Given the description of an element on the screen output the (x, y) to click on. 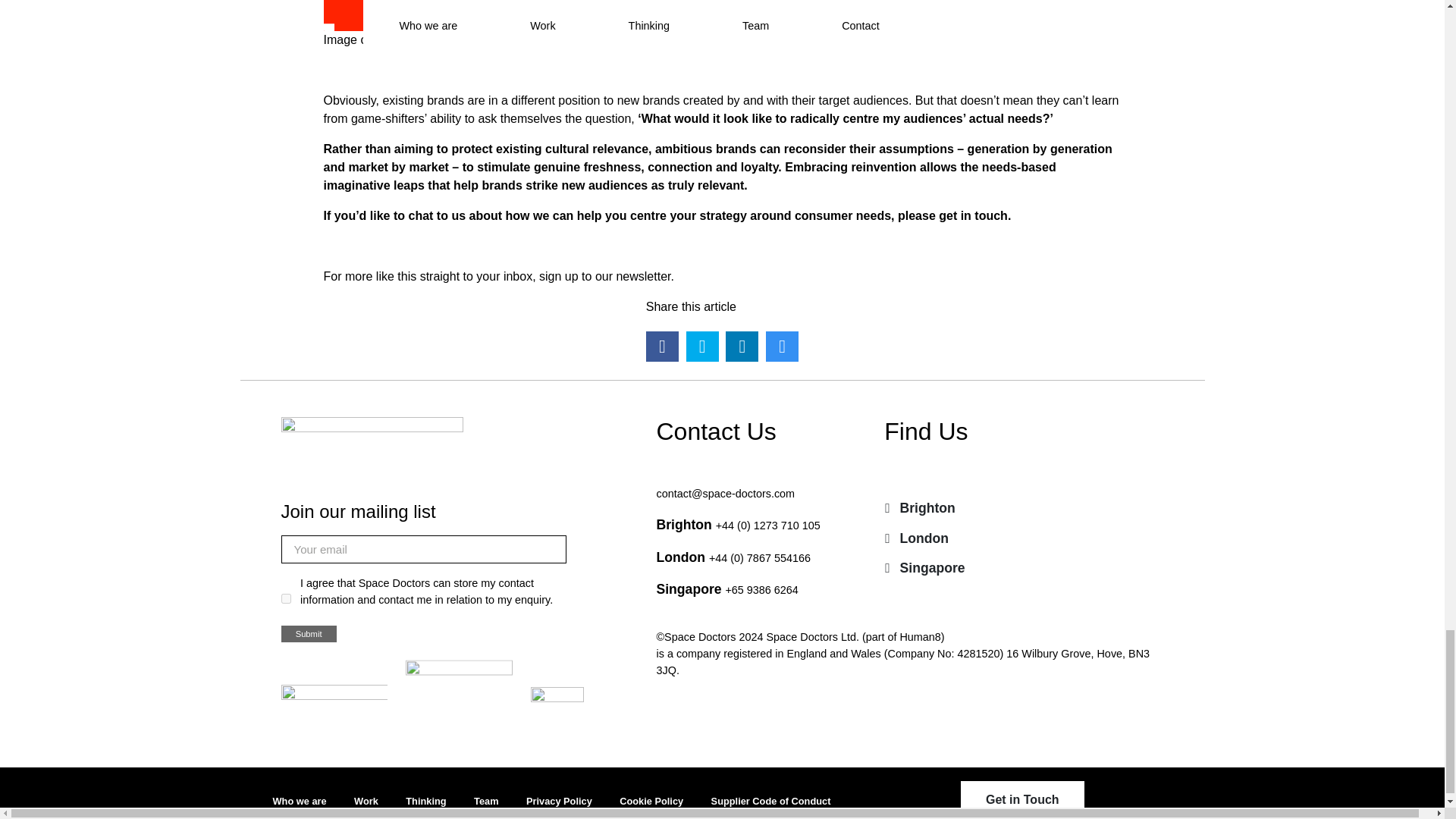
Submit (308, 633)
Submit (308, 633)
London (916, 537)
Who we are (299, 800)
Cookie Policy (651, 800)
please get in touch. (954, 215)
Privacy Policy (558, 800)
Team (485, 800)
Thinking (425, 800)
1 (285, 598)
sign up to our newsletter. (606, 276)
Supplier Code of Conduct (771, 800)
Work (365, 800)
Singapore (924, 567)
Brighton (919, 507)
